Given the description of an element on the screen output the (x, y) to click on. 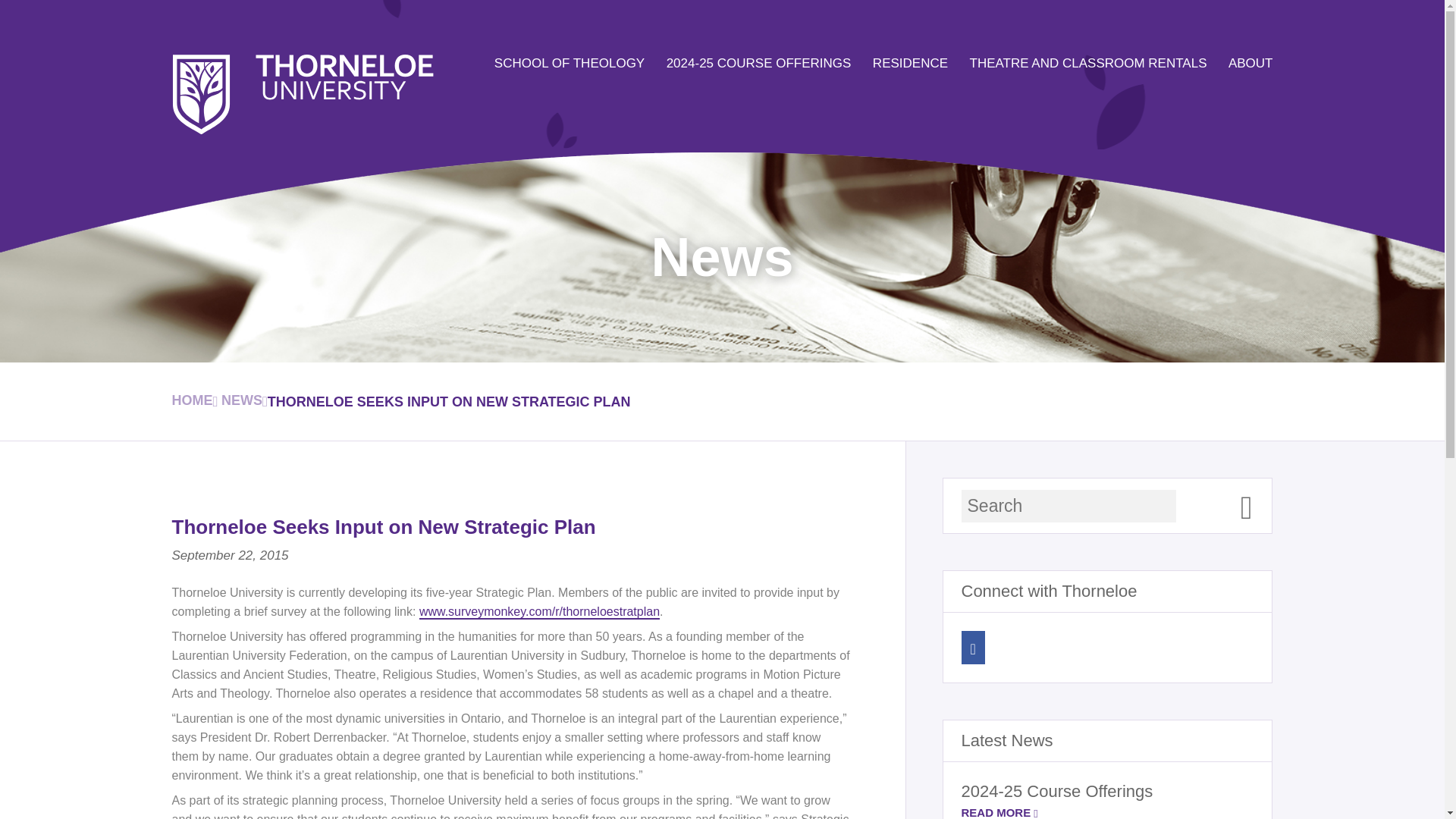
SCHOOL OF THEOLOGY (570, 63)
Latest News (1006, 740)
News (244, 401)
